Given the description of an element on the screen output the (x, y) to click on. 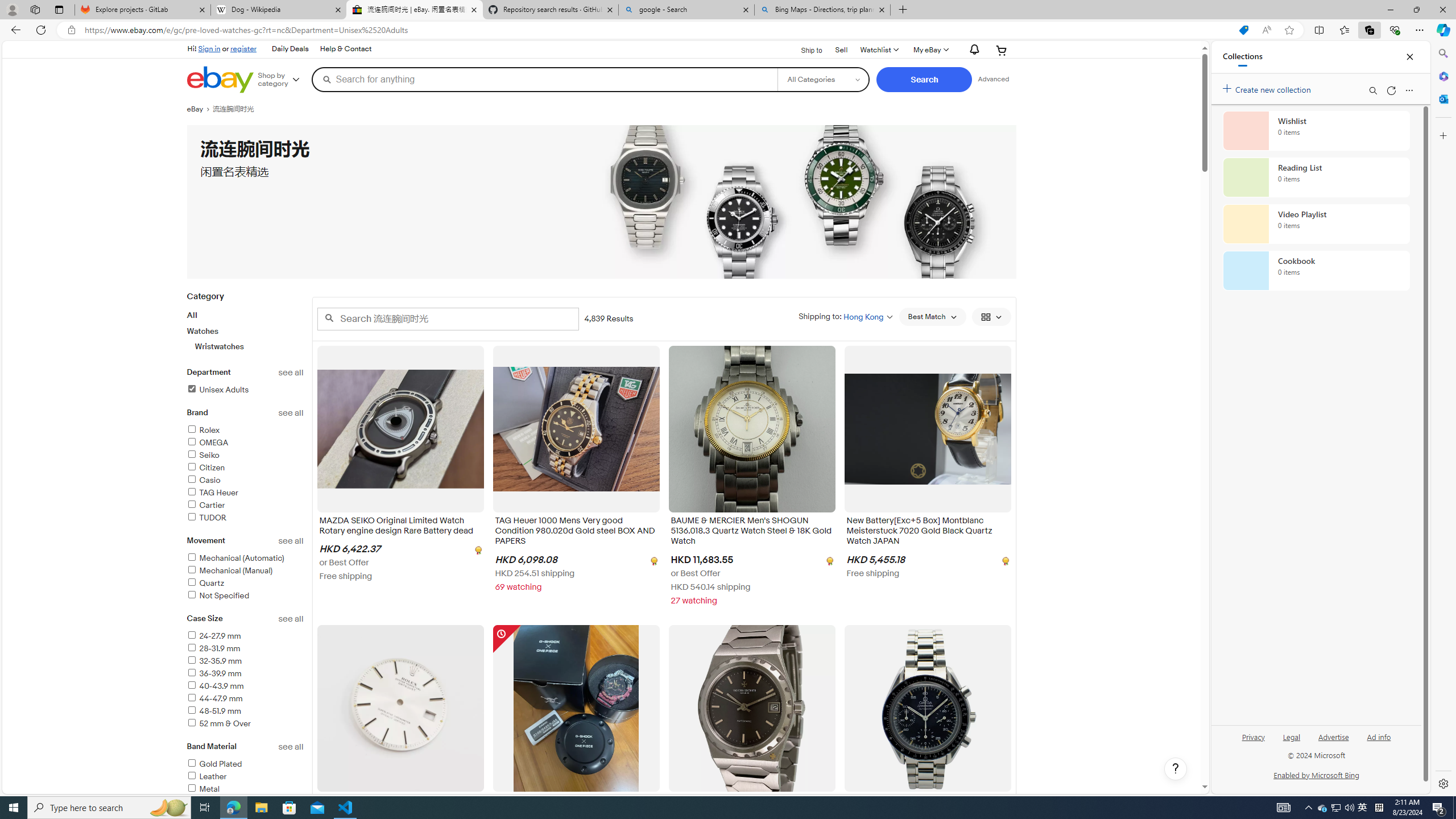
Expand Cart (1001, 49)
Search for anything (544, 78)
Departmentsee allUnisex AdultsFilter Applied (245, 387)
48-51.9 mm (245, 711)
OMEGA (245, 443)
OMEGA (207, 442)
Your shopping cart (1001, 49)
40-43.9 mm (215, 686)
TAG Heuer (212, 492)
Cartier (245, 505)
